Given the description of an element on the screen output the (x, y) to click on. 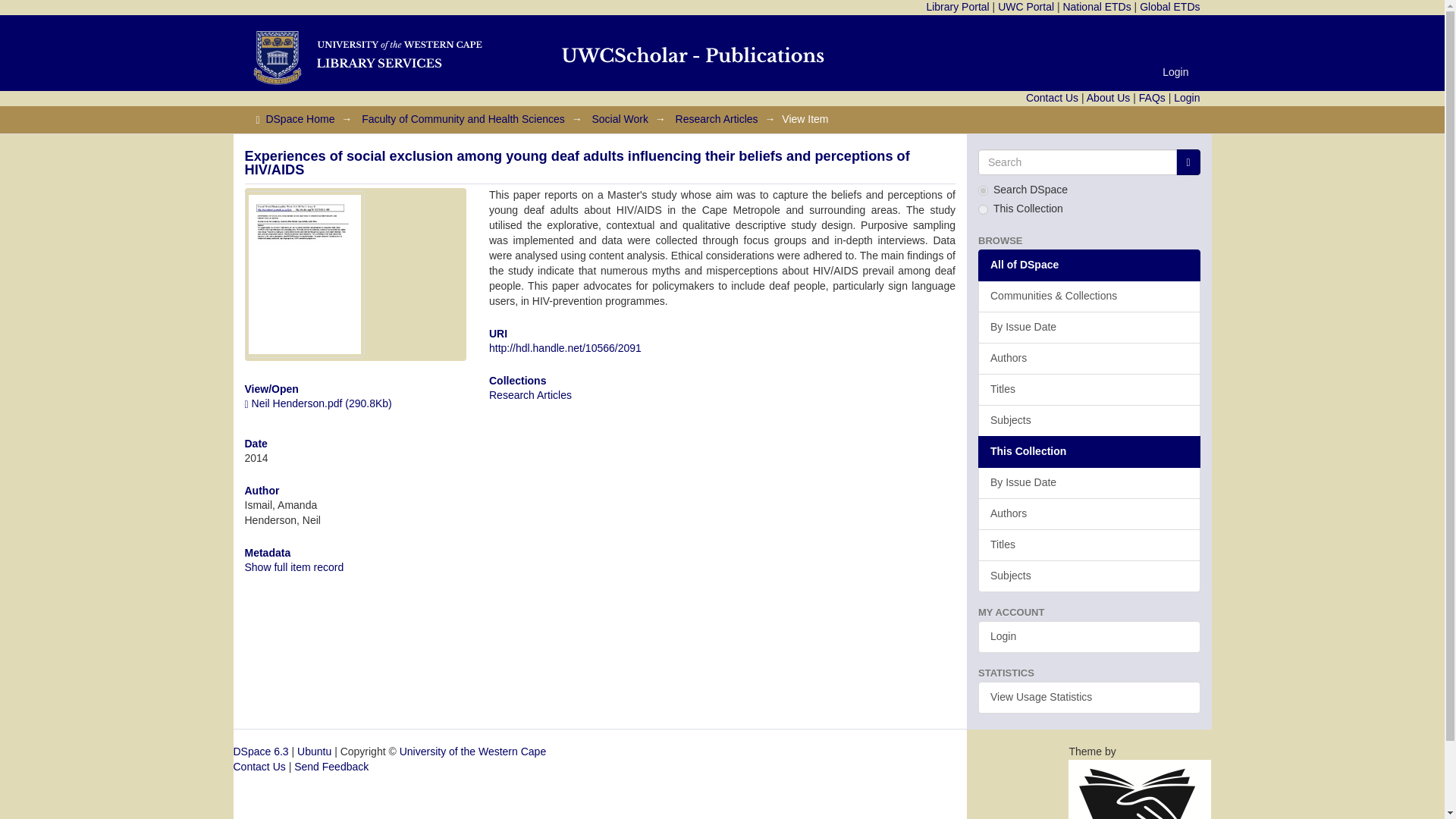
Go (1187, 162)
FAQs (1152, 97)
UWC Portal (1025, 6)
Login (1175, 71)
Research Articles (530, 395)
Authors (1088, 358)
Contact Us (1052, 97)
Login (1186, 97)
Faculty of Community and Health Sciences (462, 119)
Research Articles (716, 119)
